Given the description of an element on the screen output the (x, y) to click on. 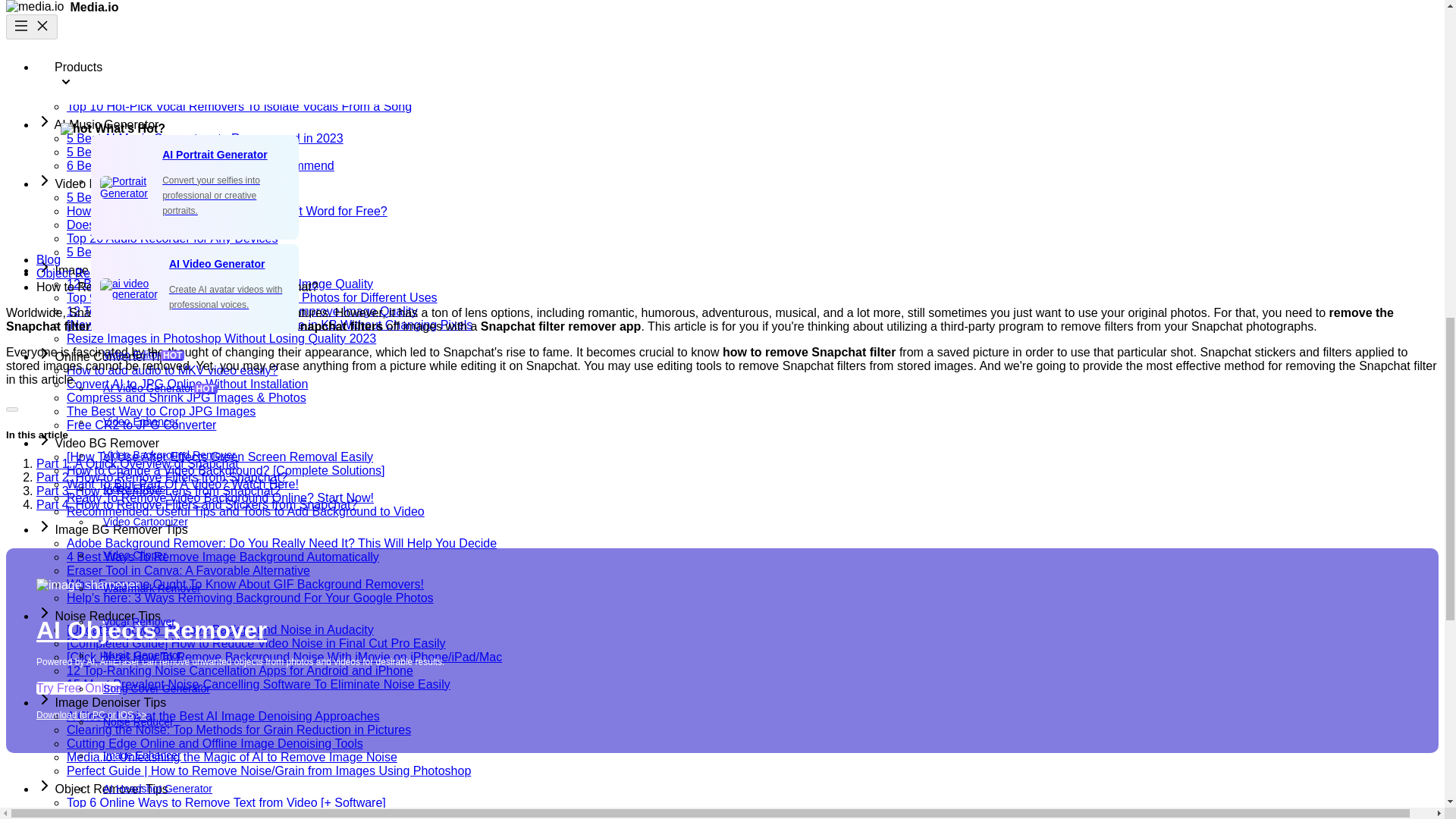
Image Sharpener (232, 613)
Image Compressor (232, 780)
Image Converter (232, 747)
Background Changer (232, 547)
Portrait Generator (232, 481)
Object Remover (232, 347)
AI Voice Changer (232, 280)
Passport Photo Maker (232, 513)
Audio Cutter (232, 214)
Photo Colorizer (232, 647)
Video Compressor (232, 380)
Auto Transcription (232, 146)
Auto Subtitles (232, 113)
Image Upscaler (232, 580)
AI Voice Generator (232, 246)
